Given the description of an element on the screen output the (x, y) to click on. 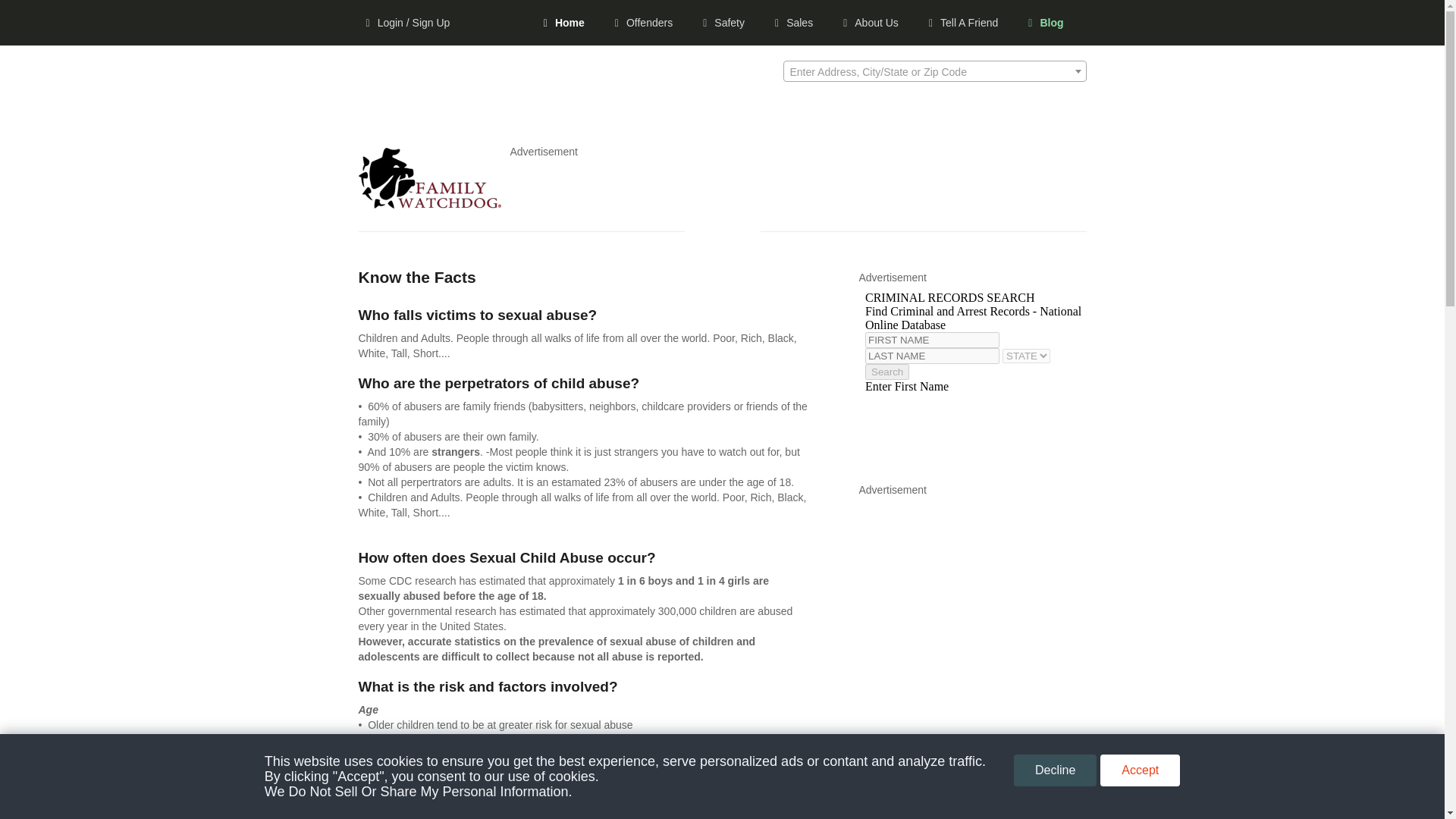
API (26, 327)
Link To Us (42, 509)
Newsletters (45, 250)
Sign Up (36, 615)
About Us (39, 457)
Resources (43, 232)
Advertising (44, 362)
Home (571, 22)
About Us (39, 443)
Press Room (47, 491)
Videos (34, 284)
Blog (28, 555)
Tell A Friend (47, 538)
Printable Brochures (64, 267)
Business (39, 379)
